Given the description of an element on the screen output the (x, y) to click on. 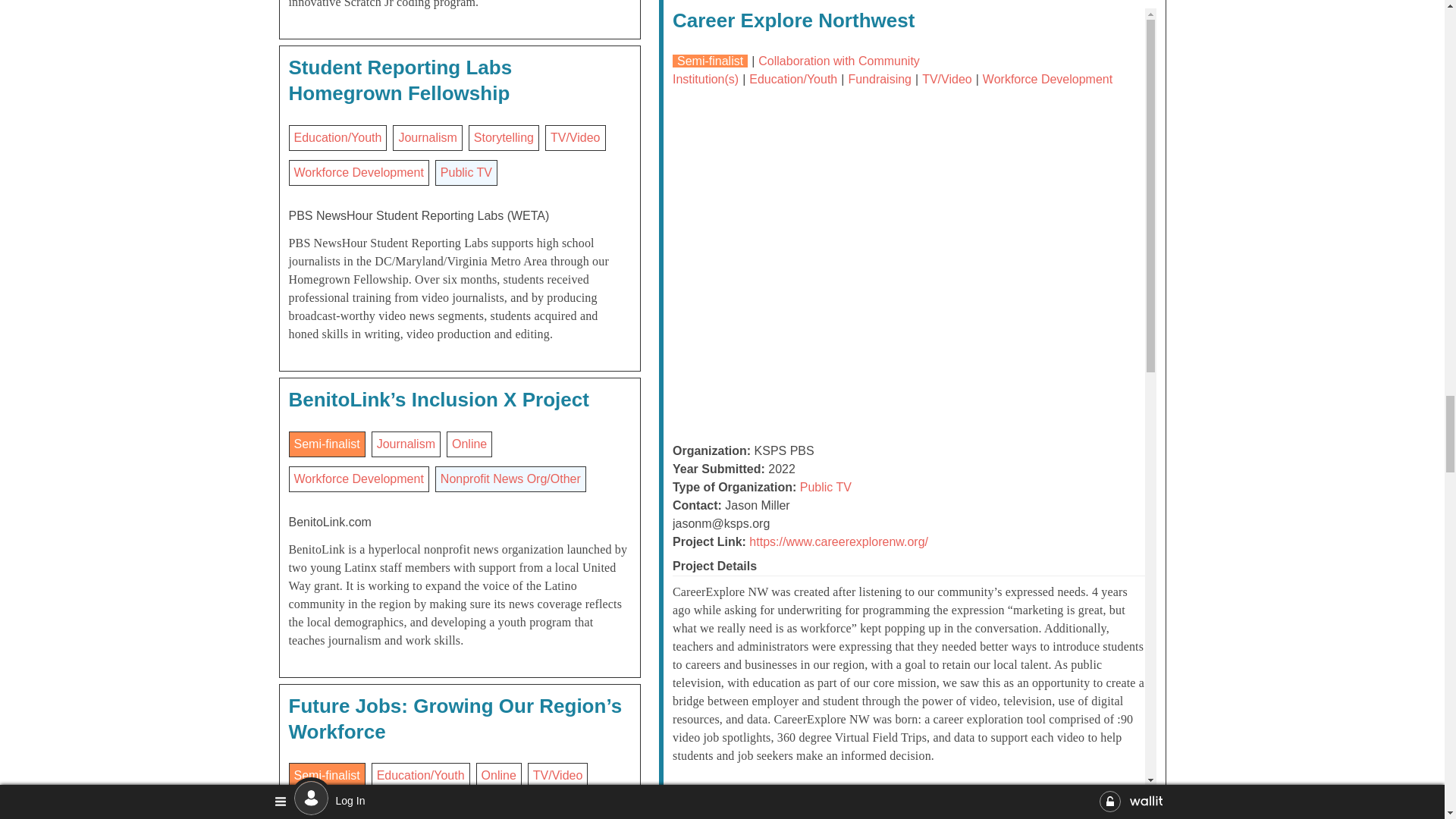
Permalink to Student Reporting Labs Homegrown Fellowship (400, 80)
